Given the description of an element on the screen output the (x, y) to click on. 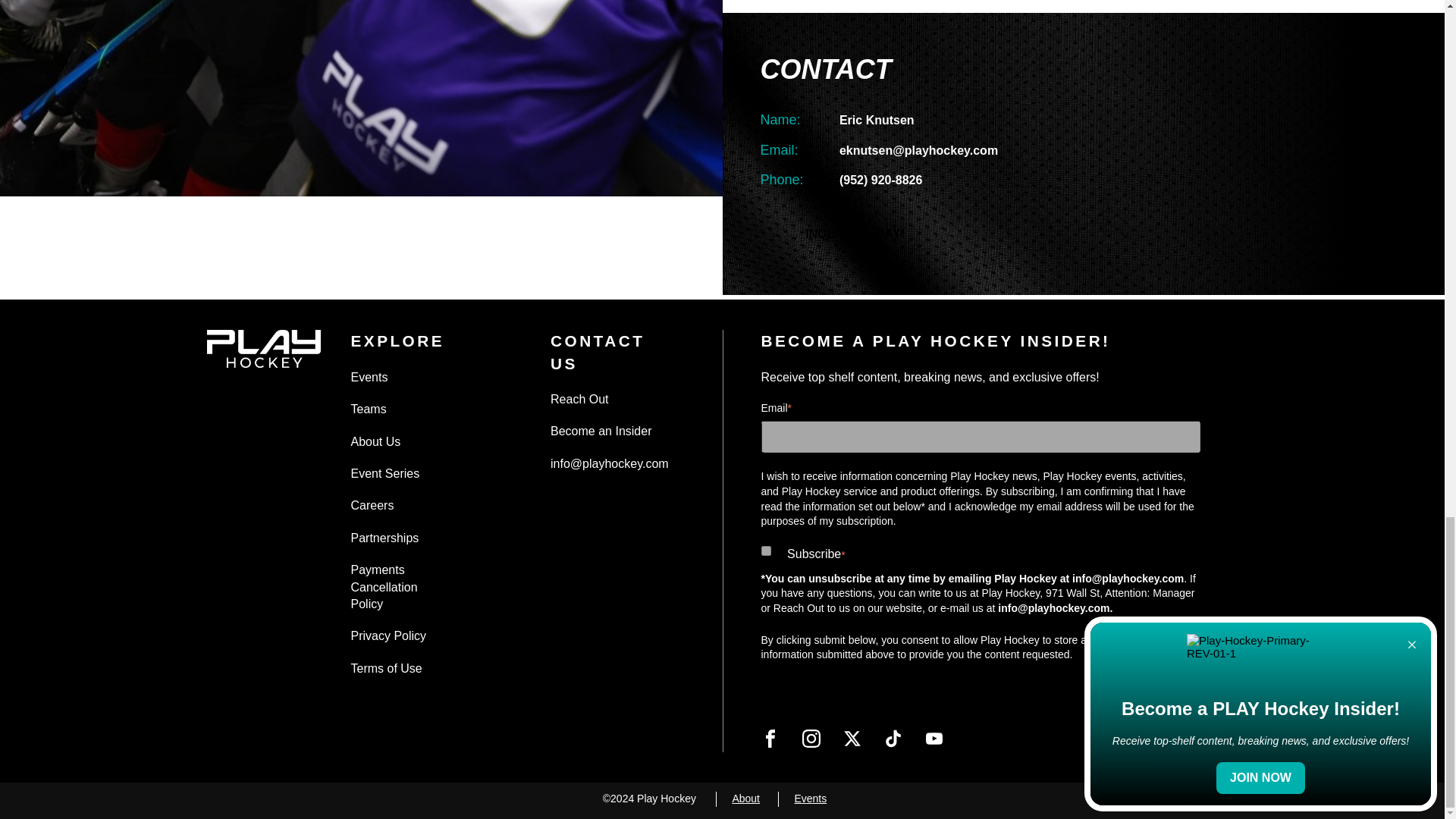
true (766, 551)
Submit (828, 698)
instagram (811, 738)
INQUIRE TODAY! (854, 234)
facebook (769, 738)
